Given the description of an element on the screen output the (x, y) to click on. 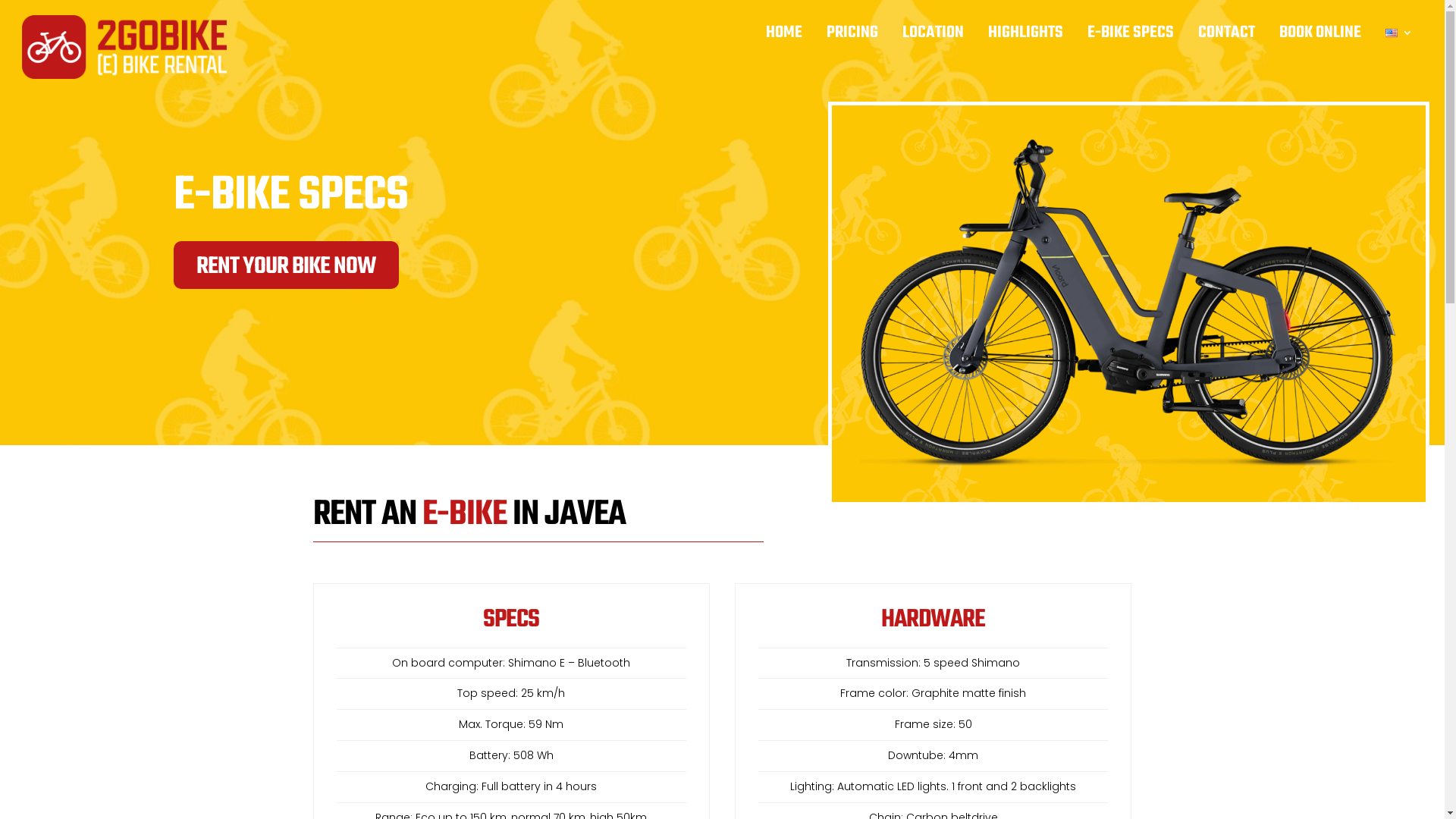
RENT YOUR BIKE NOW Element type: text (285, 264)
E-BIKE SPECS Element type: text (1126, 35)
LOCATION Element type: text (928, 35)
PRICING Element type: text (848, 35)
BOOK ONLINE Element type: text (1316, 35)
HIGHLIGHTS Element type: text (1021, 35)
logo2gobike Element type: hover (123, 46)
CONTACT Element type: text (1222, 35)
HOME Element type: text (780, 35)
E Bike rental Javea Element type: hover (1128, 303)
